Given the description of an element on the screen output the (x, y) to click on. 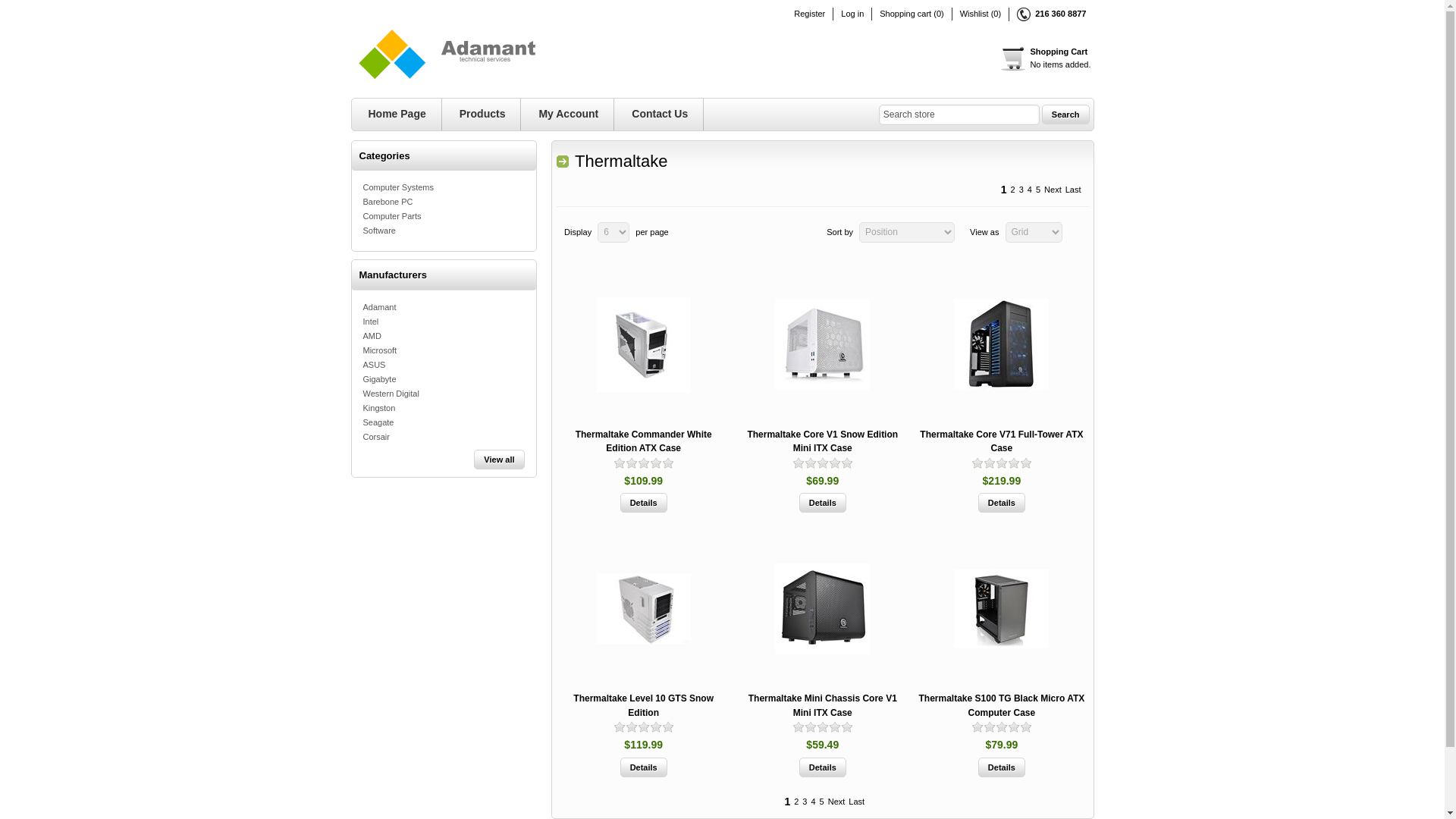
Products (482, 113)
Adamant Online Store (478, 53)
Search (1065, 114)
Search (1065, 114)
Log in (852, 13)
Home Page (397, 113)
Contact Us (659, 113)
Register (809, 13)
Search store (643, 502)
Search store (959, 114)
My Account (959, 114)
